Given the description of an element on the screen output the (x, y) to click on. 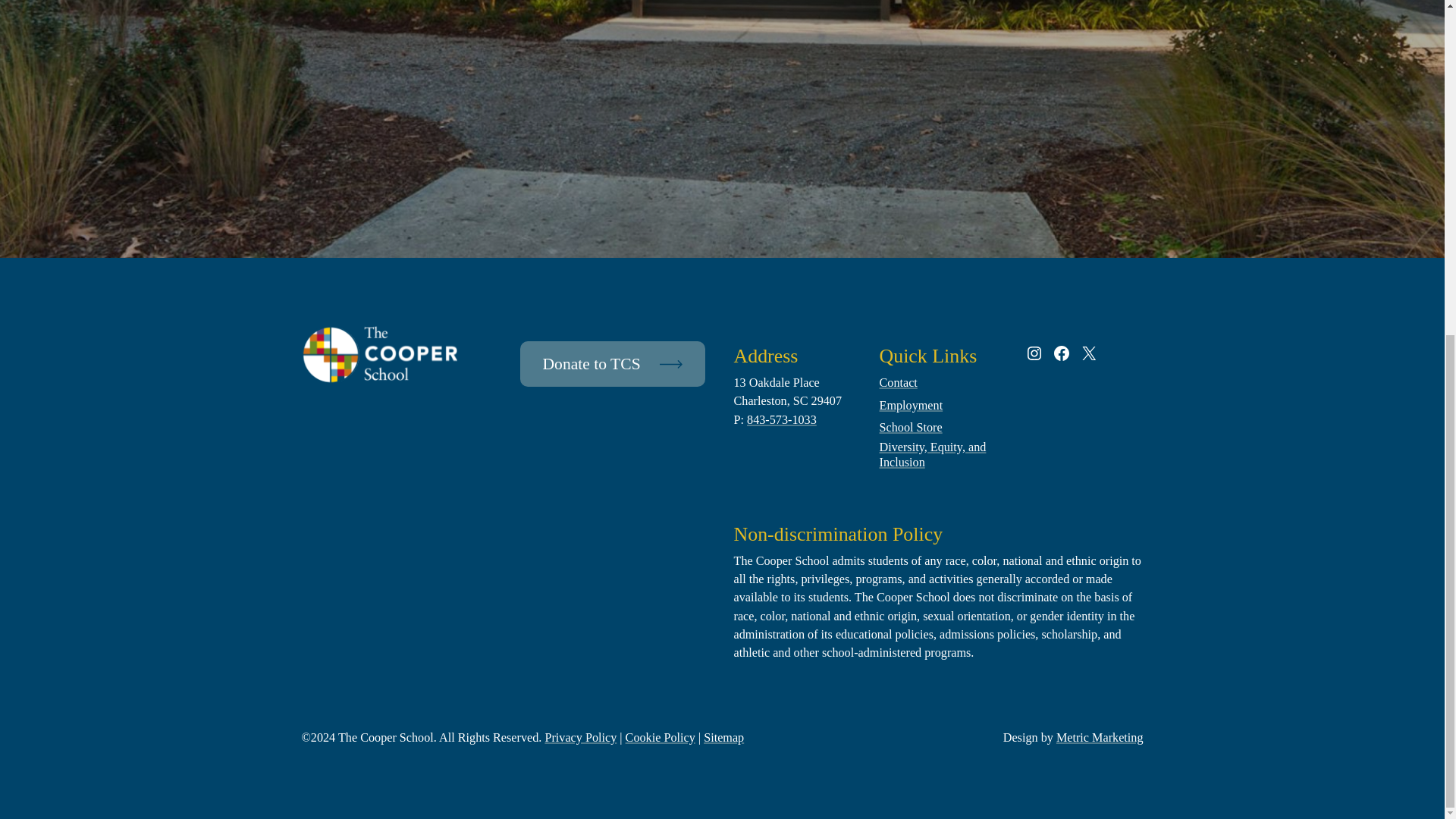
Privacy Policy  (579, 738)
Cookie Policy  (660, 738)
